Given the description of an element on the screen output the (x, y) to click on. 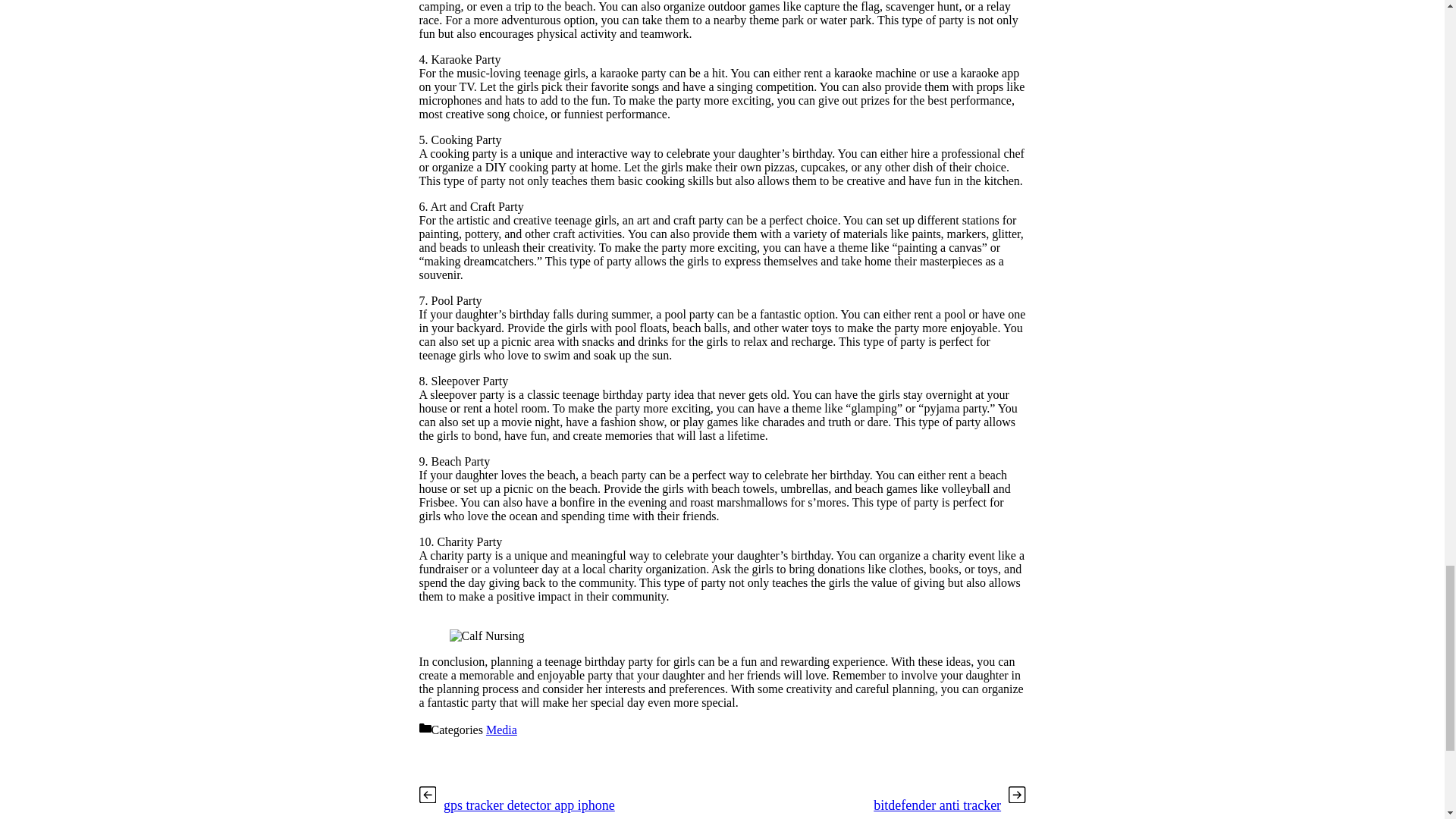
Calf Nursing (486, 635)
bitdefender anti tracker (937, 805)
Media (501, 729)
gps tracker detector app iphone (529, 805)
